Given the description of an element on the screen output the (x, y) to click on. 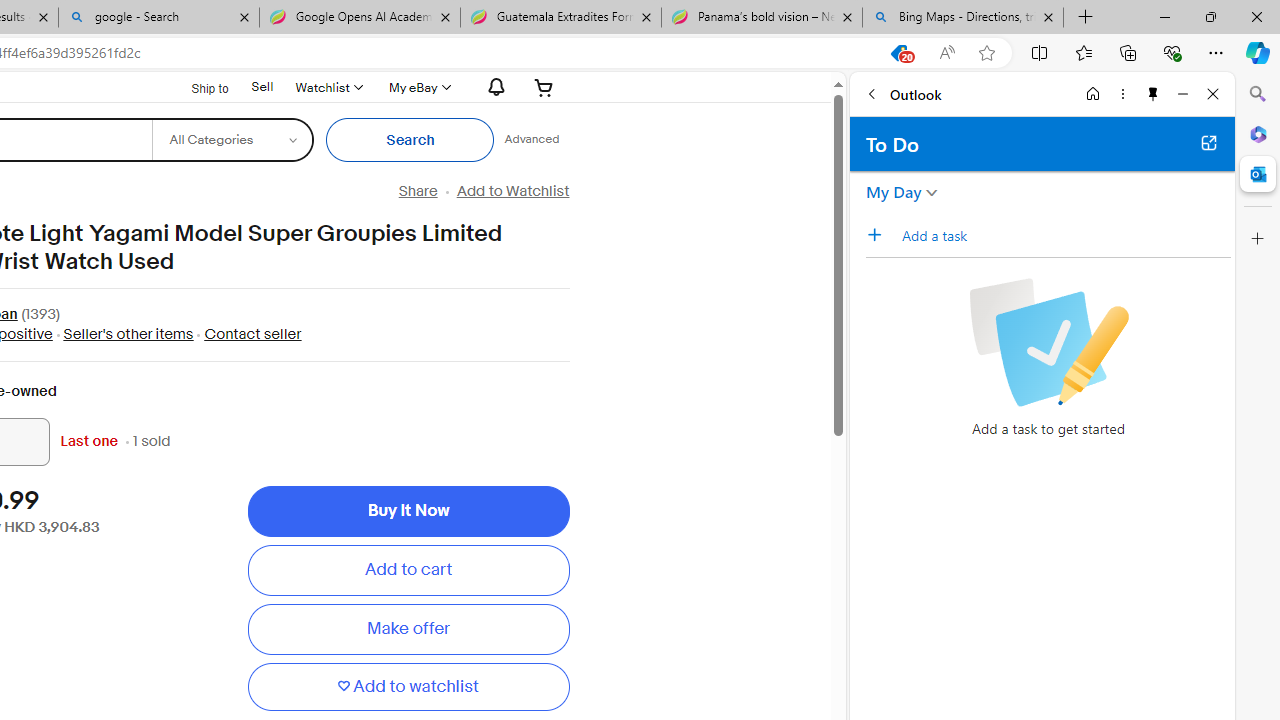
Buy It Now (408, 511)
Google Opens AI Academy for Startups - Nearshore Americas (359, 17)
Checkbox with a pencil (1047, 342)
Your shopping cart (543, 87)
Add to watchlist (408, 686)
  Contact seller (247, 334)
Make offer (408, 629)
Seller's other items (128, 334)
This site has coupons! Shopping in Microsoft Edge, 20 (898, 53)
Add a task (1065, 235)
